Given the description of an element on the screen output the (x, y) to click on. 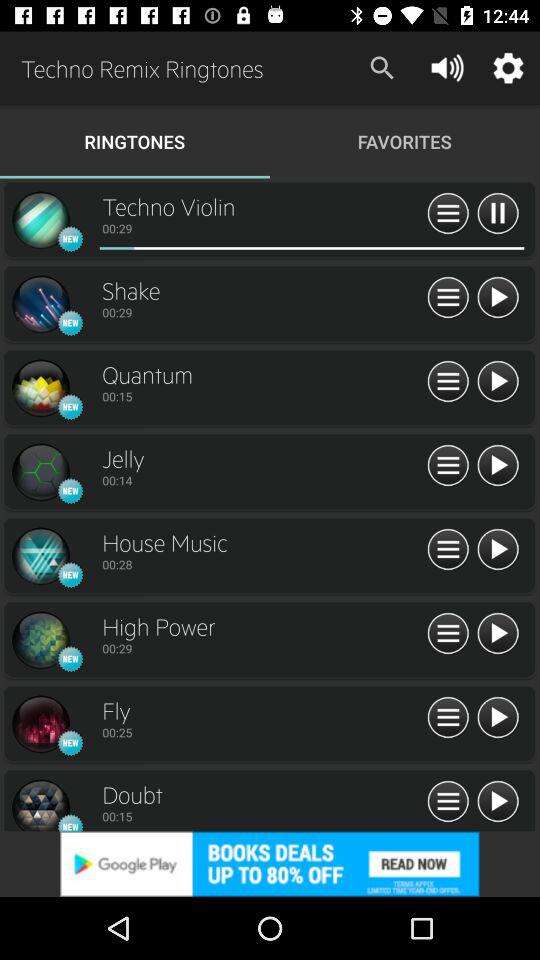
quantum symbol (40, 388)
